Given the description of an element on the screen output the (x, y) to click on. 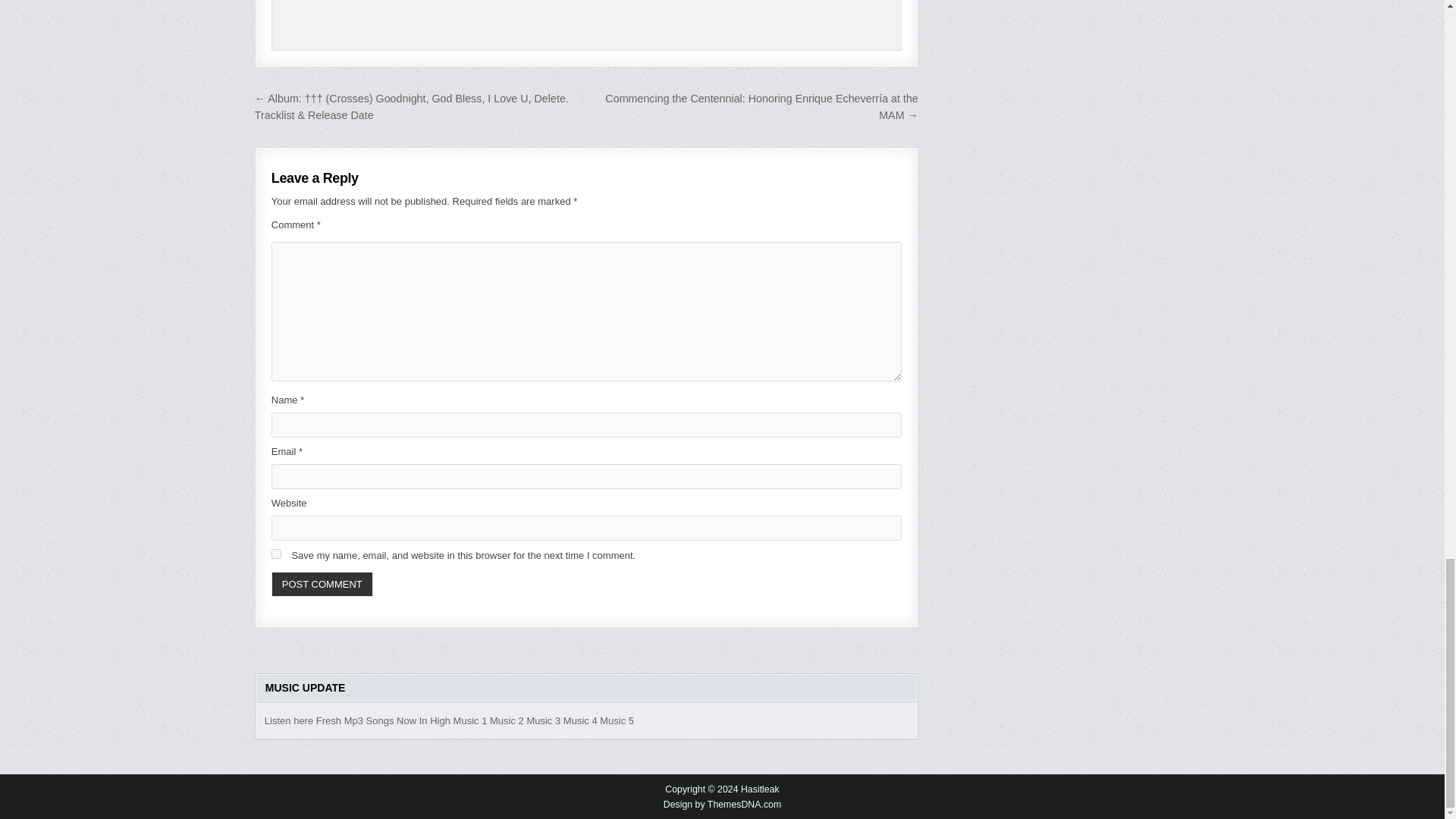
Mp3 (352, 720)
yes (275, 553)
Post Comment (321, 584)
Music 3 (542, 720)
Music 4 (579, 720)
Music 1 (469, 720)
Fresh (327, 720)
Music 2 (506, 720)
Music 5 (616, 720)
Now (406, 720)
Design by ThemesDNA.com (722, 804)
Post Comment (321, 584)
Listen (277, 720)
here (303, 720)
Songs (380, 720)
